Given the description of an element on the screen output the (x, y) to click on. 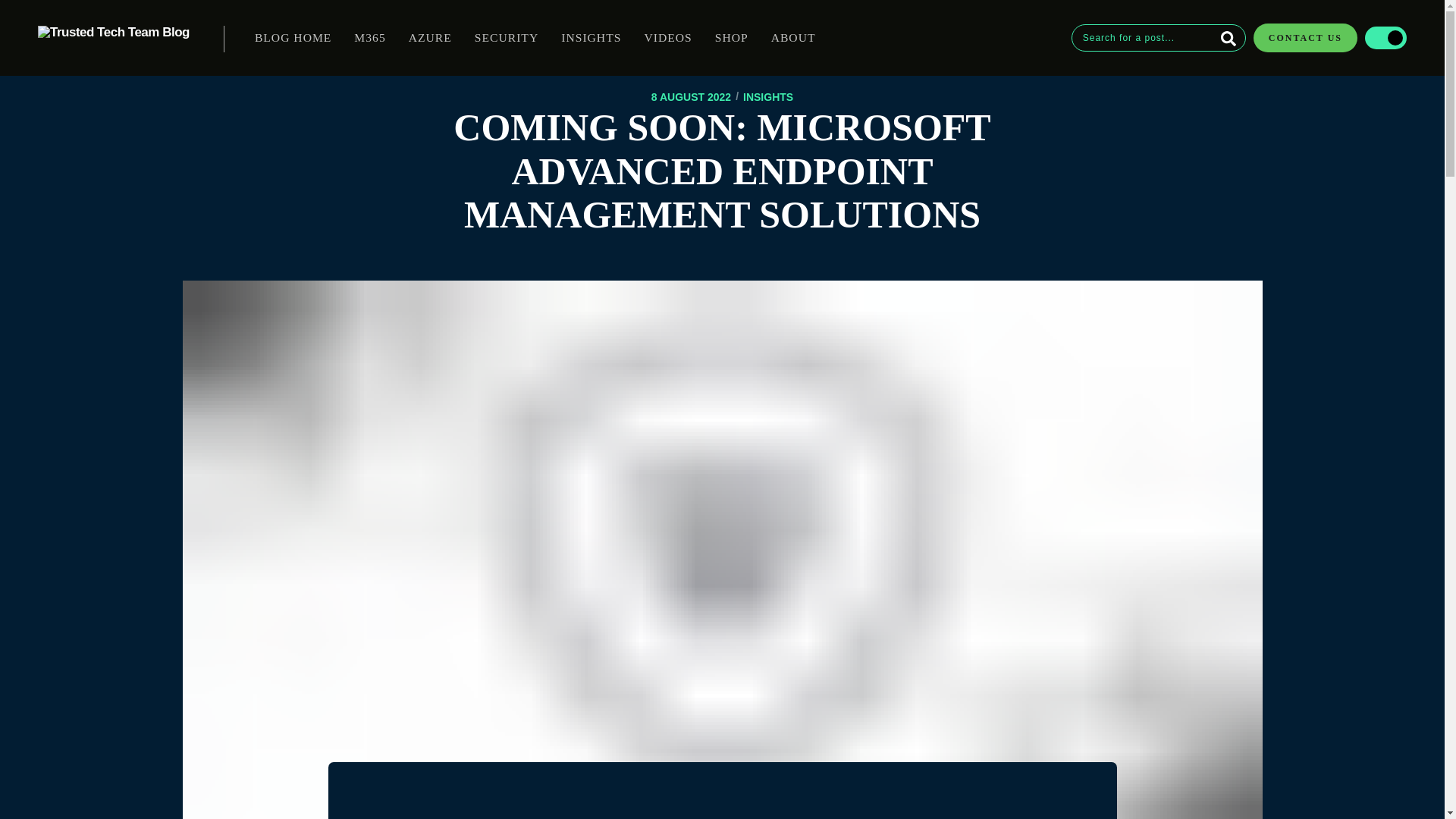
AZURE (430, 37)
BLOG HOME (292, 37)
CONTACT US (1302, 37)
ABOUT (793, 37)
M365 (369, 37)
VIDEOS (667, 37)
INSIGHTS (767, 96)
INSIGHTS (590, 37)
SHOP (731, 37)
SECURITY (506, 37)
